Given the description of an element on the screen output the (x, y) to click on. 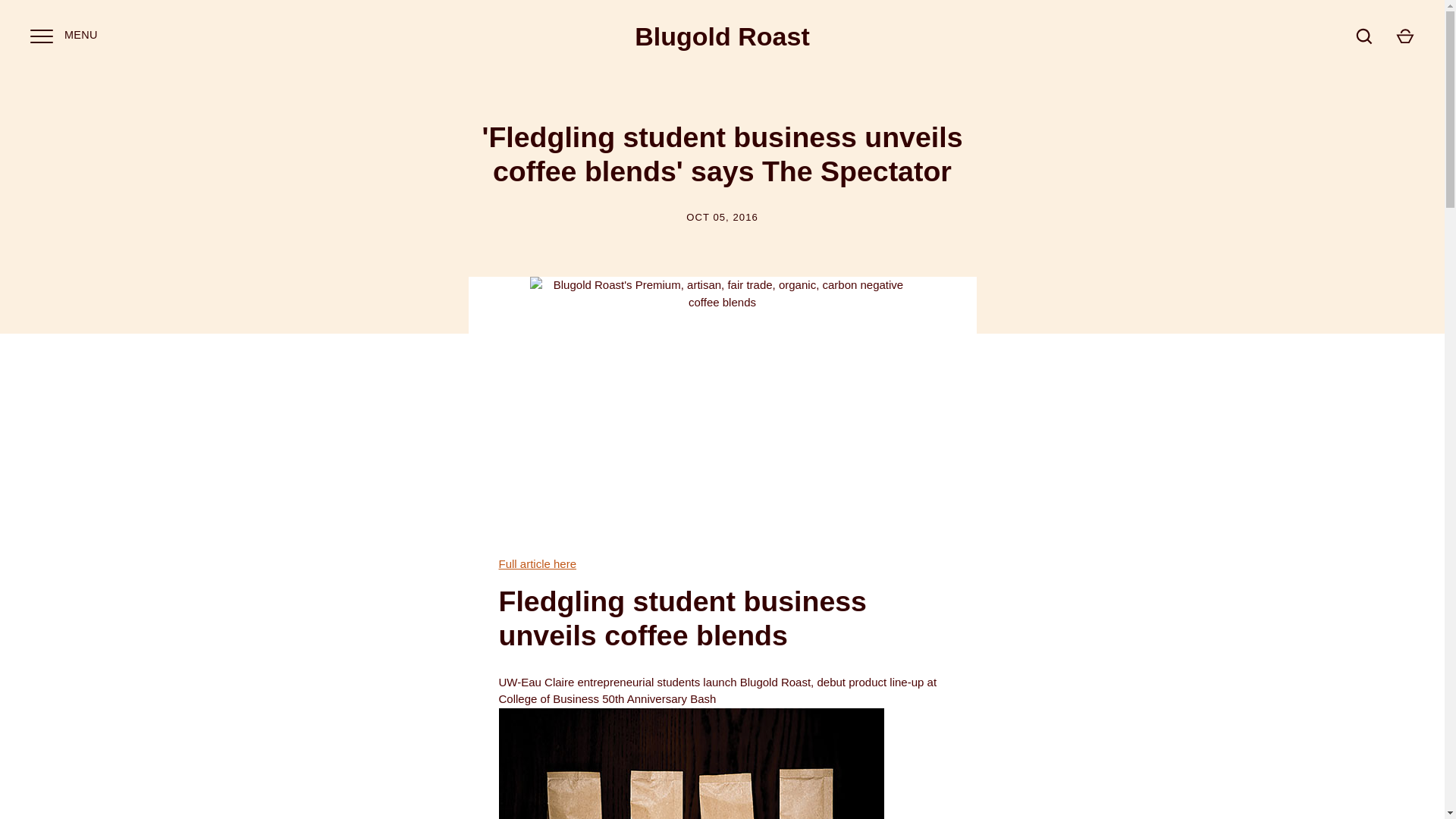
Full article here (537, 563)
Blugold Roast (721, 36)
MENU (41, 35)
